Given the description of an element on the screen output the (x, y) to click on. 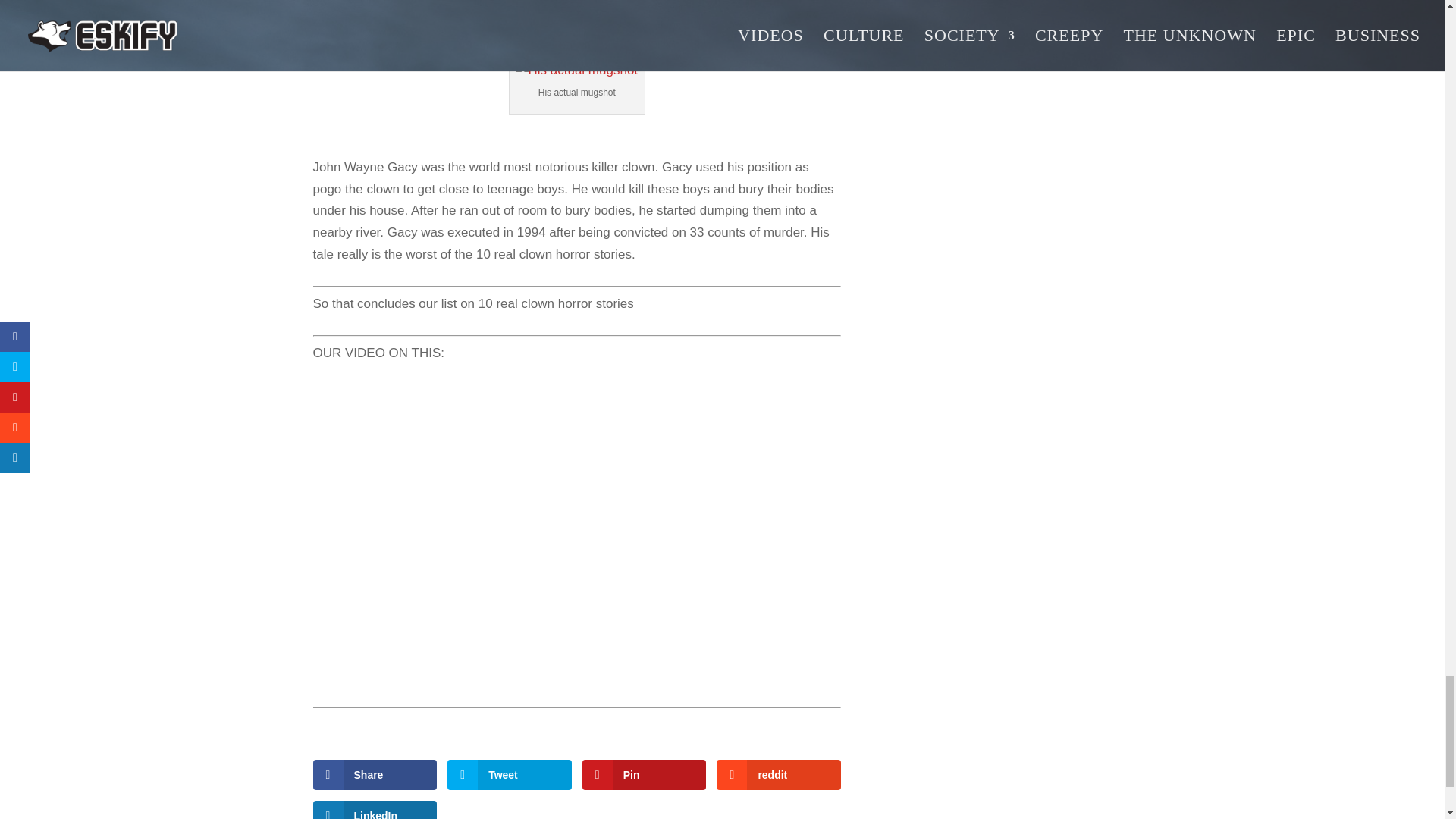
Share (374, 775)
Tweet (509, 775)
